Given the description of an element on the screen output the (x, y) to click on. 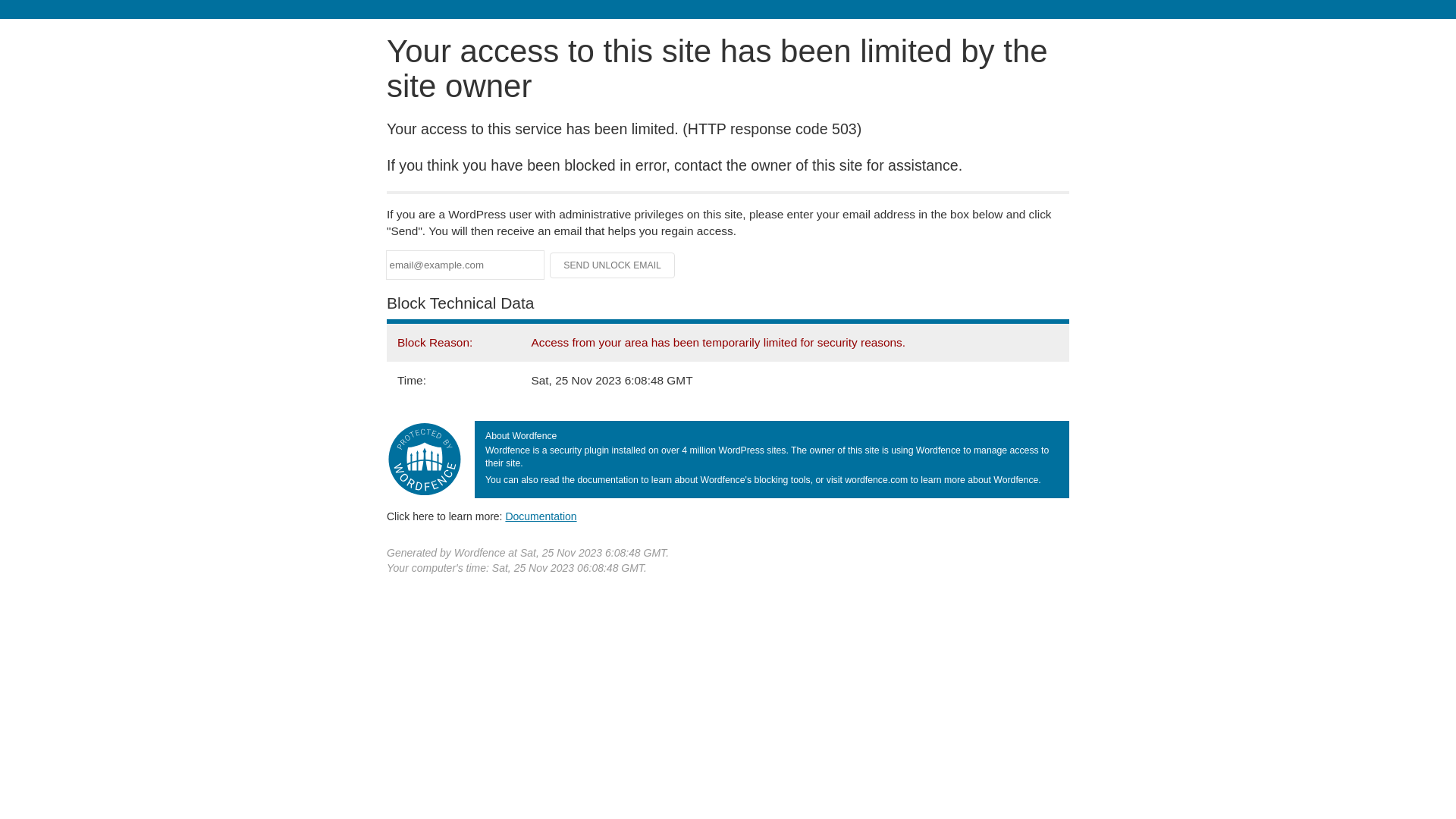
Documentation Element type: text (540, 516)
Send Unlock Email Element type: text (612, 265)
